Given the description of an element on the screen output the (x, y) to click on. 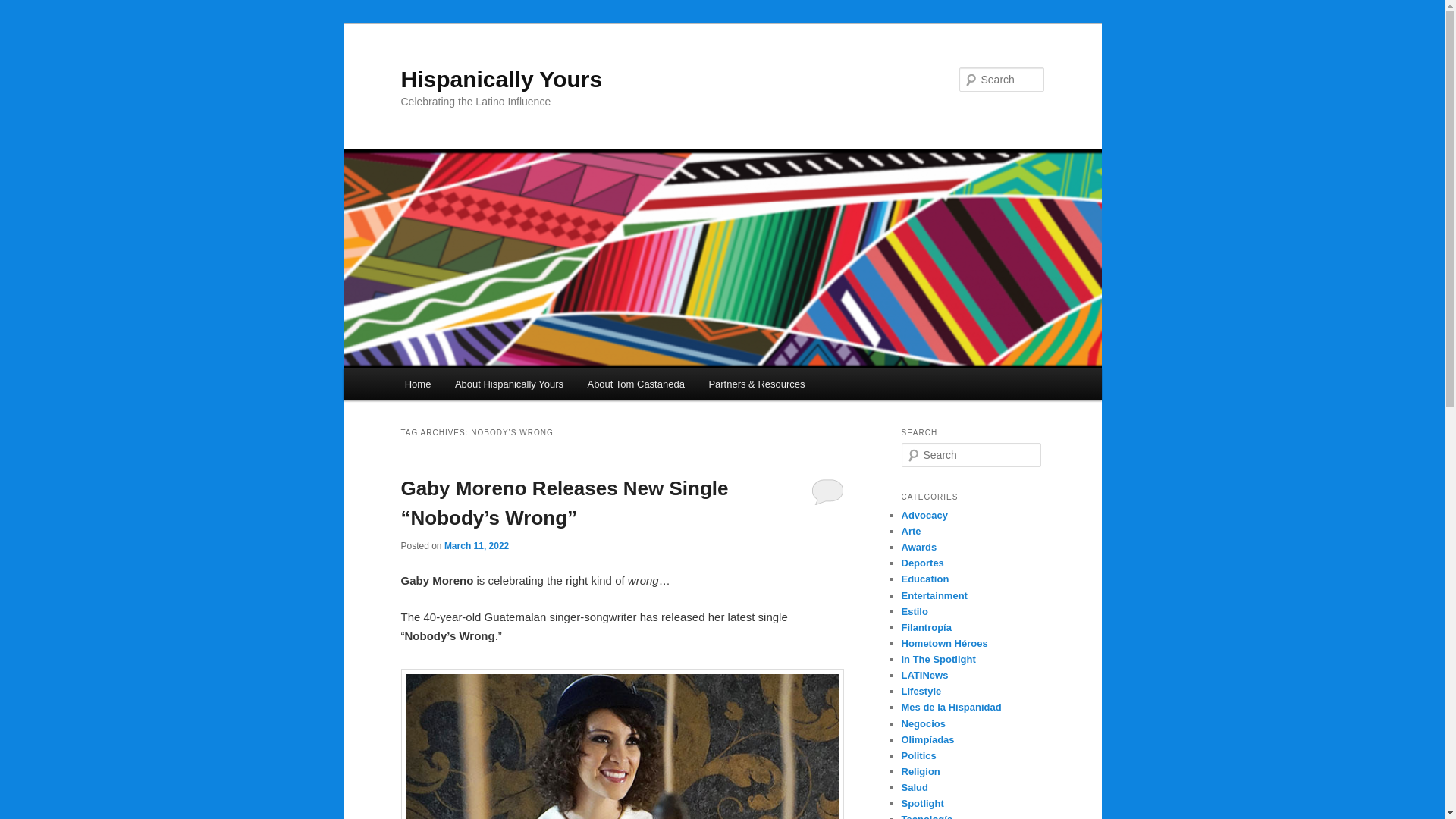
Advocacy (924, 514)
Mes de la Hispanidad (951, 706)
Salud (914, 787)
Education (925, 578)
Hispanically Yours (501, 78)
Deportes (922, 562)
Search (24, 8)
Search (21, 11)
Arte (910, 531)
Awards (918, 546)
Politics (918, 755)
Home (417, 383)
March 11, 2022 (476, 545)
Estilo (914, 611)
Entertainment (933, 595)
